Given the description of an element on the screen output the (x, y) to click on. 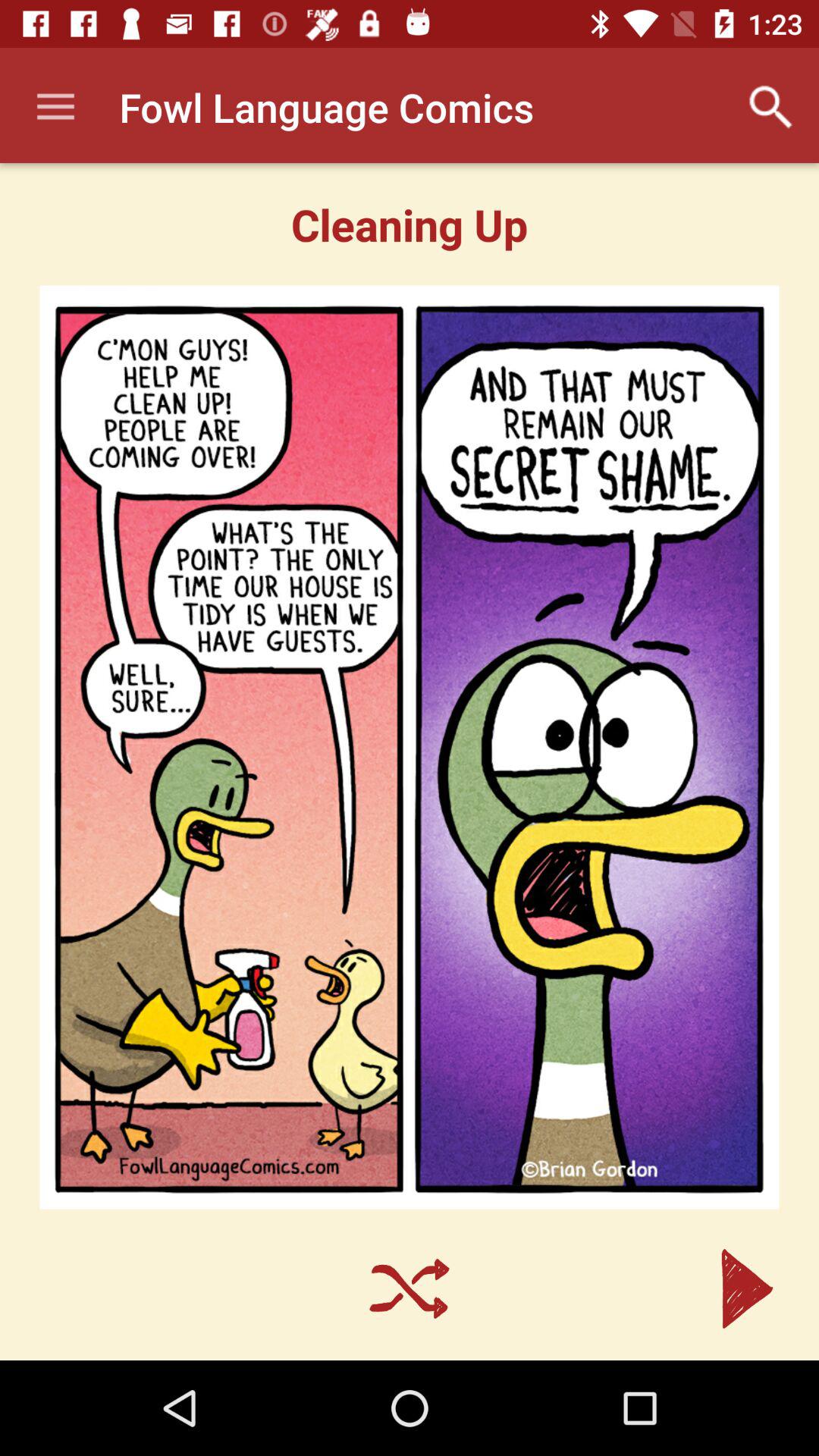
click the icon below the cleaning up icon (409, 747)
